Given the description of an element on the screen output the (x, y) to click on. 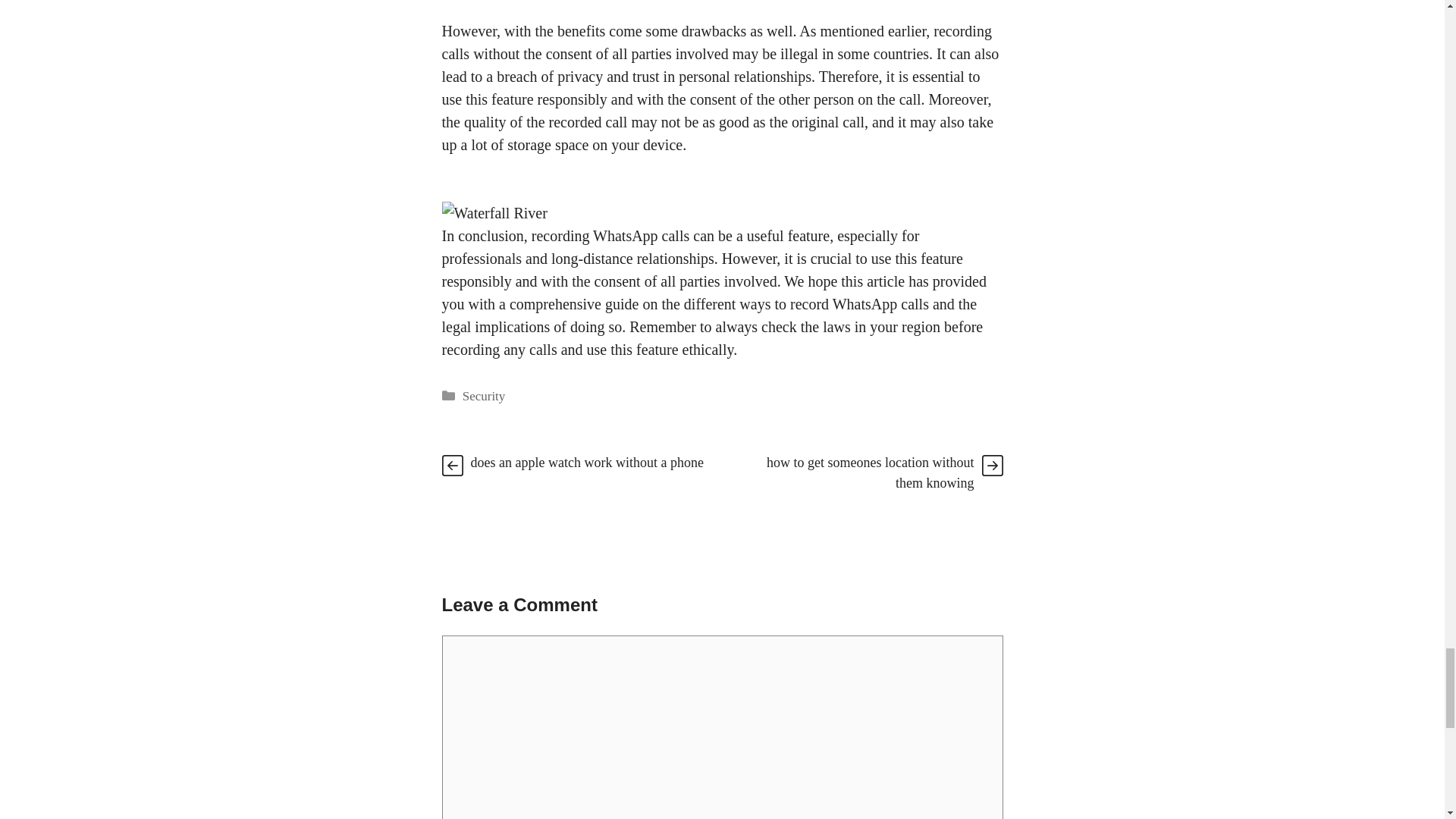
Waterfall River (494, 212)
Security (484, 395)
how to get someones location without them knowing (870, 472)
does an apple watch work without a phone (586, 462)
